Given the description of an element on the screen output the (x, y) to click on. 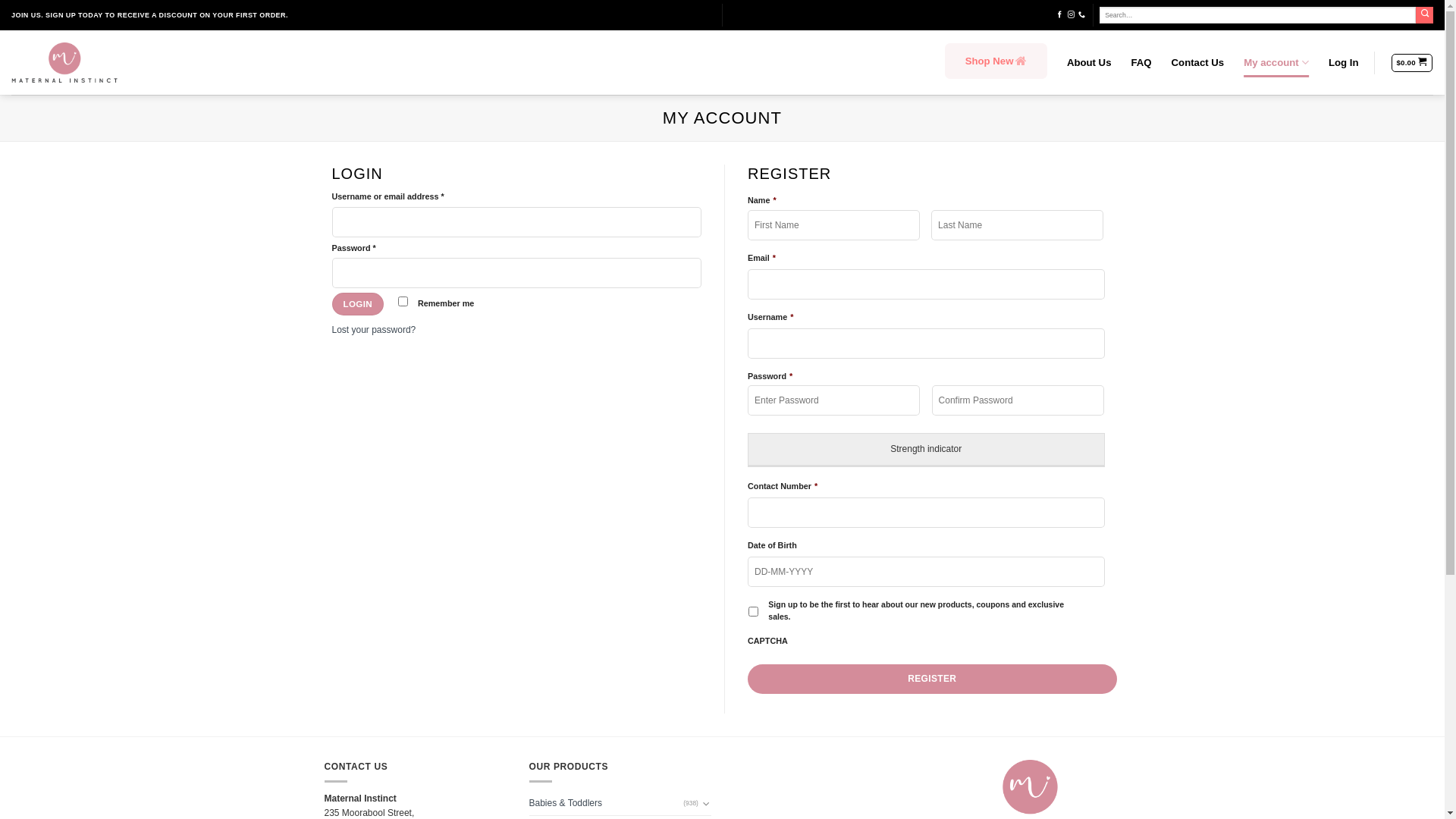
Contact Us Element type: text (1197, 61)
Register Element type: text (932, 678)
My account Element type: text (1275, 62)
Shop New Element type: text (995, 62)
Babies & Toddlers Element type: text (606, 803)
Maternal Instinct - Pregnancy & Baby Essential Just For You Element type: hover (64, 62)
FAQ Element type: text (1140, 61)
$0.00 Element type: text (1411, 62)
Log In Element type: text (1343, 61)
Lost your password? Element type: text (374, 329)
LOGIN Element type: text (357, 303)
About Us Element type: text (1088, 61)
